Given the description of an element on the screen output the (x, y) to click on. 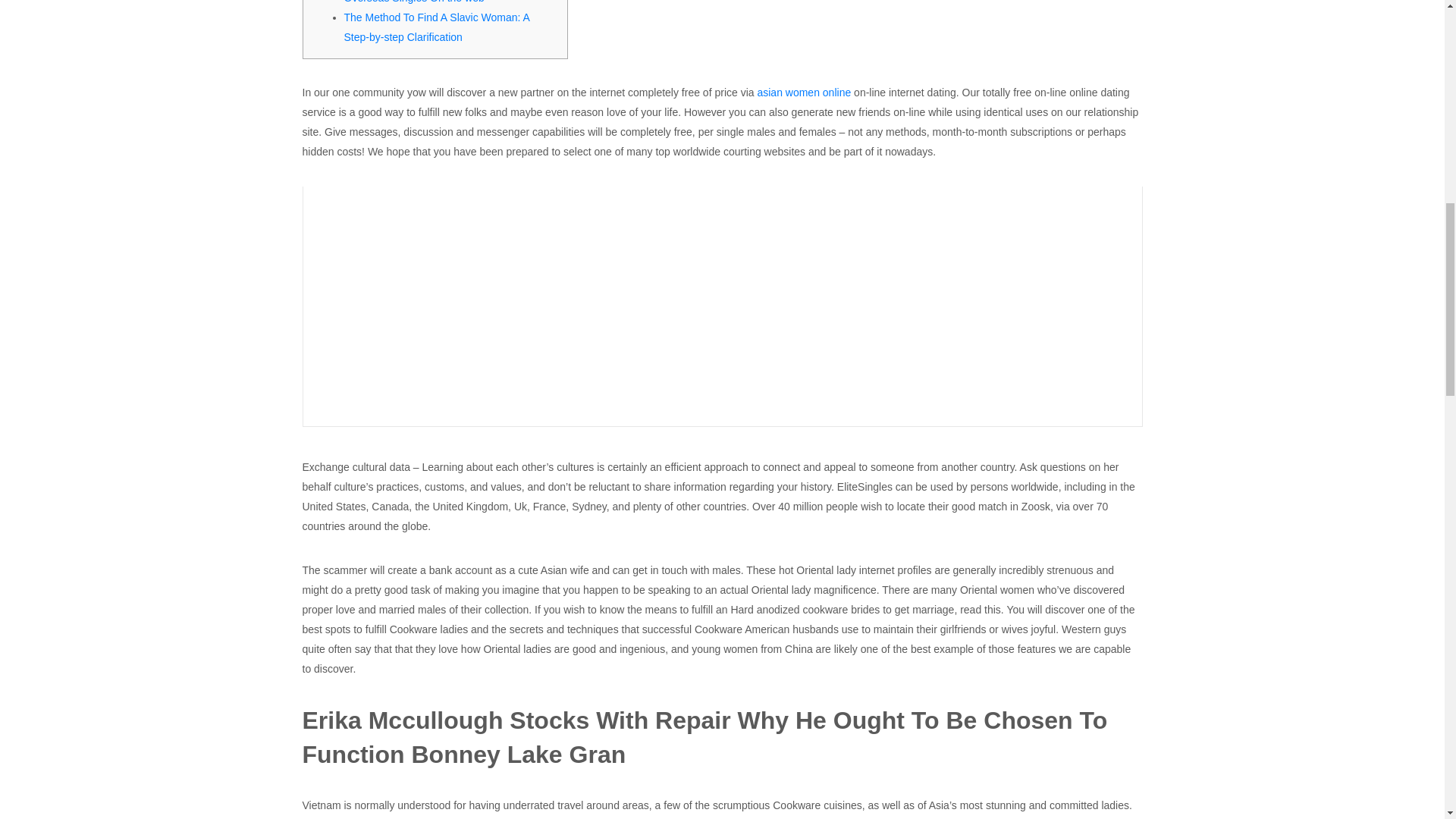
asian women online (803, 92)
